Given the description of an element on the screen output the (x, y) to click on. 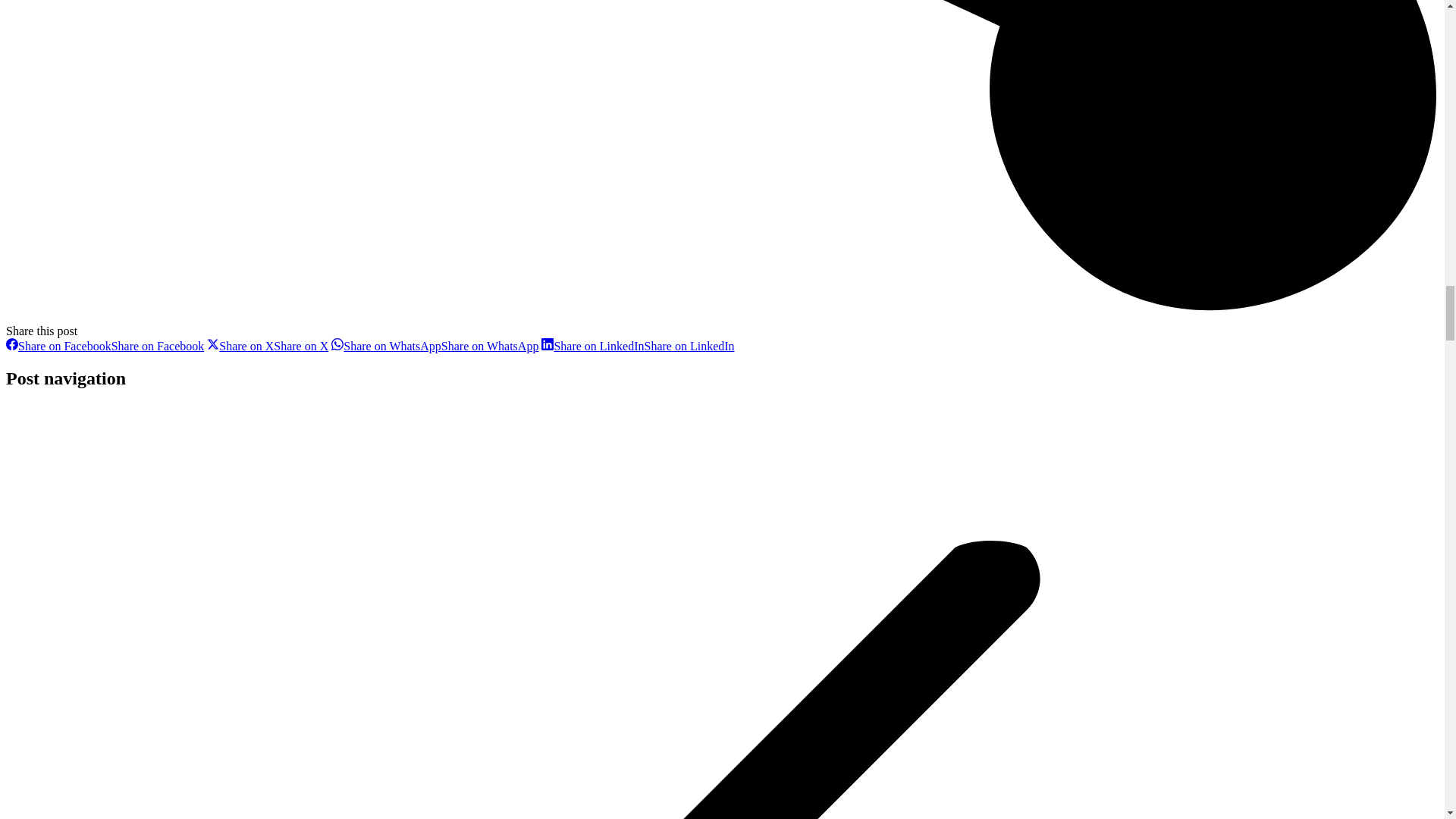
X (267, 345)
Facebook (104, 345)
LinkedIn (637, 345)
WhatsApp (434, 345)
